Given the description of an element on the screen output the (x, y) to click on. 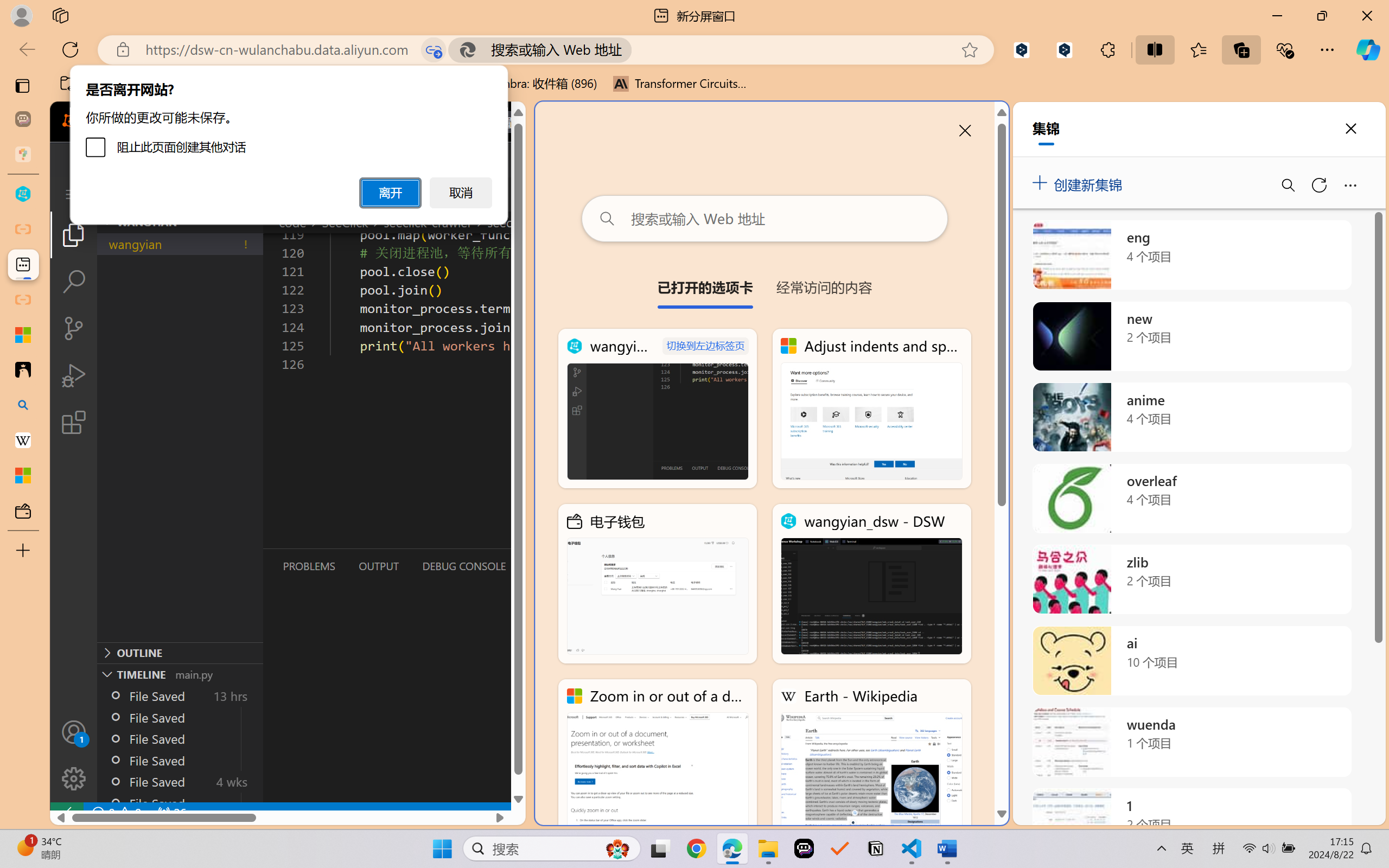
Minimize (1325, 10)
View (376, 29)
Align Right (360, 71)
Shape Fill (662, 46)
Arrange (600, 62)
Design (116, 29)
Customize Quick Access Toolbar (142, 9)
Replace... (727, 60)
Save (73, 9)
Numbering (355, 52)
Shape Outline Green, Accent 1 (644, 60)
Numbering (359, 52)
Arrow: Down (572, 60)
Shape Outline (669, 60)
